Given the description of an element on the screen output the (x, y) to click on. 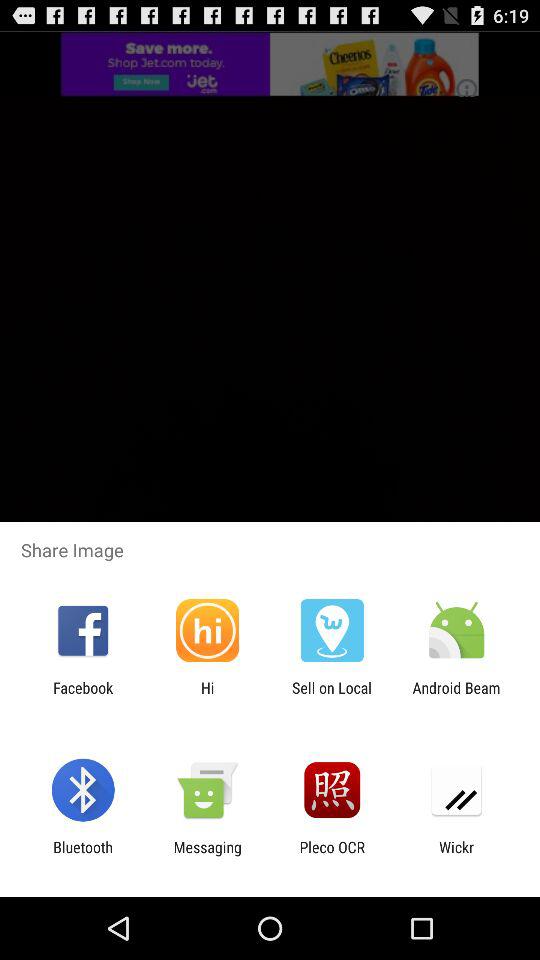
click icon to the right of the sell on local item (456, 696)
